Given the description of an element on the screen output the (x, y) to click on. 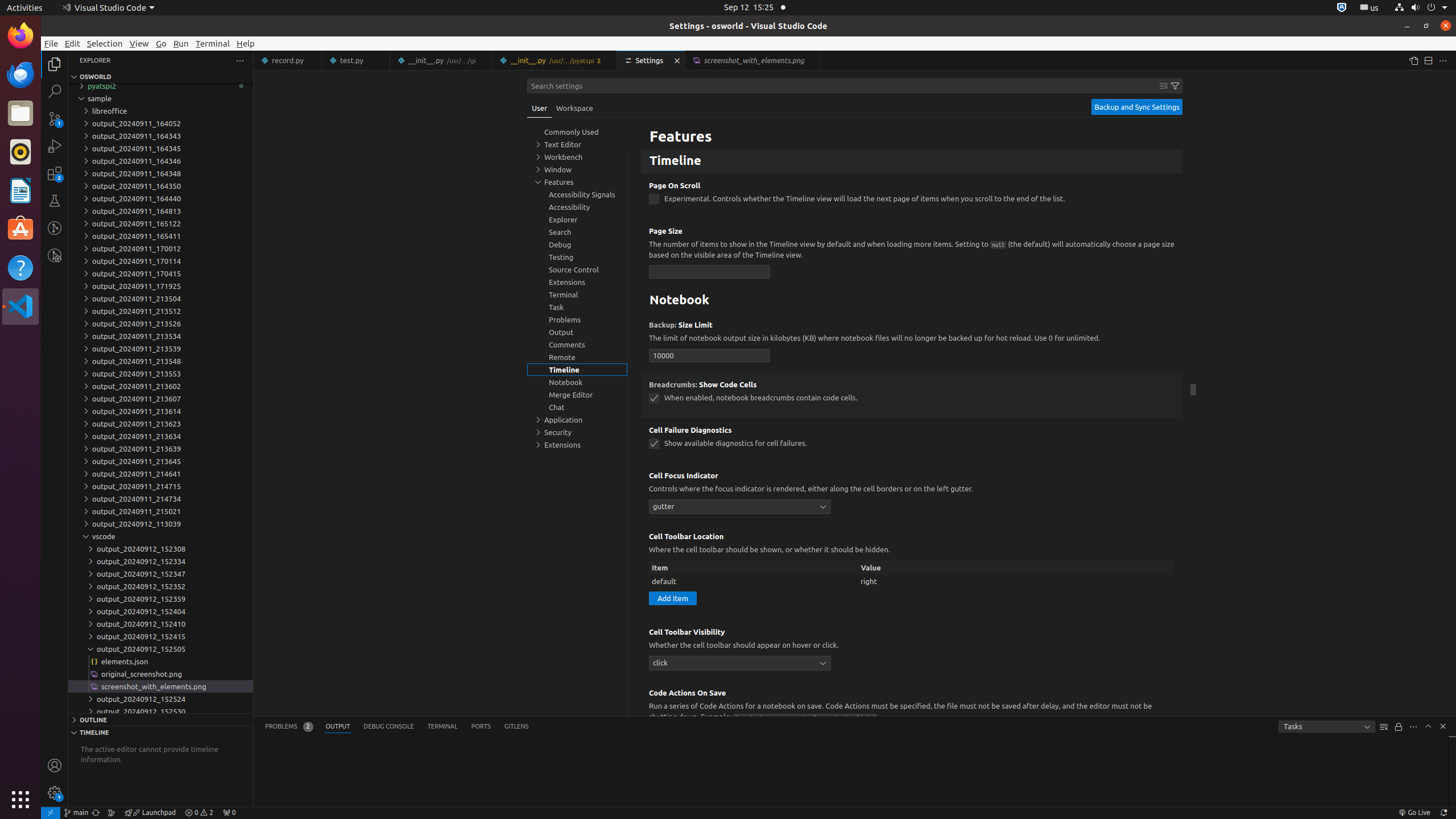
Terminal Element type: push-button (212, 43)
User Element type: check-box (539, 107)
original_screenshot.png Element type: tree-item (160, 673)
Notebook, group Element type: tree-item (577, 381)
 Page On Scroll. Experimental. Controls whether the Timeline view will load the next page of items when you scroll to the end of the list.  Element type: tree-item (911, 195)
